Given the description of an element on the screen output the (x, y) to click on. 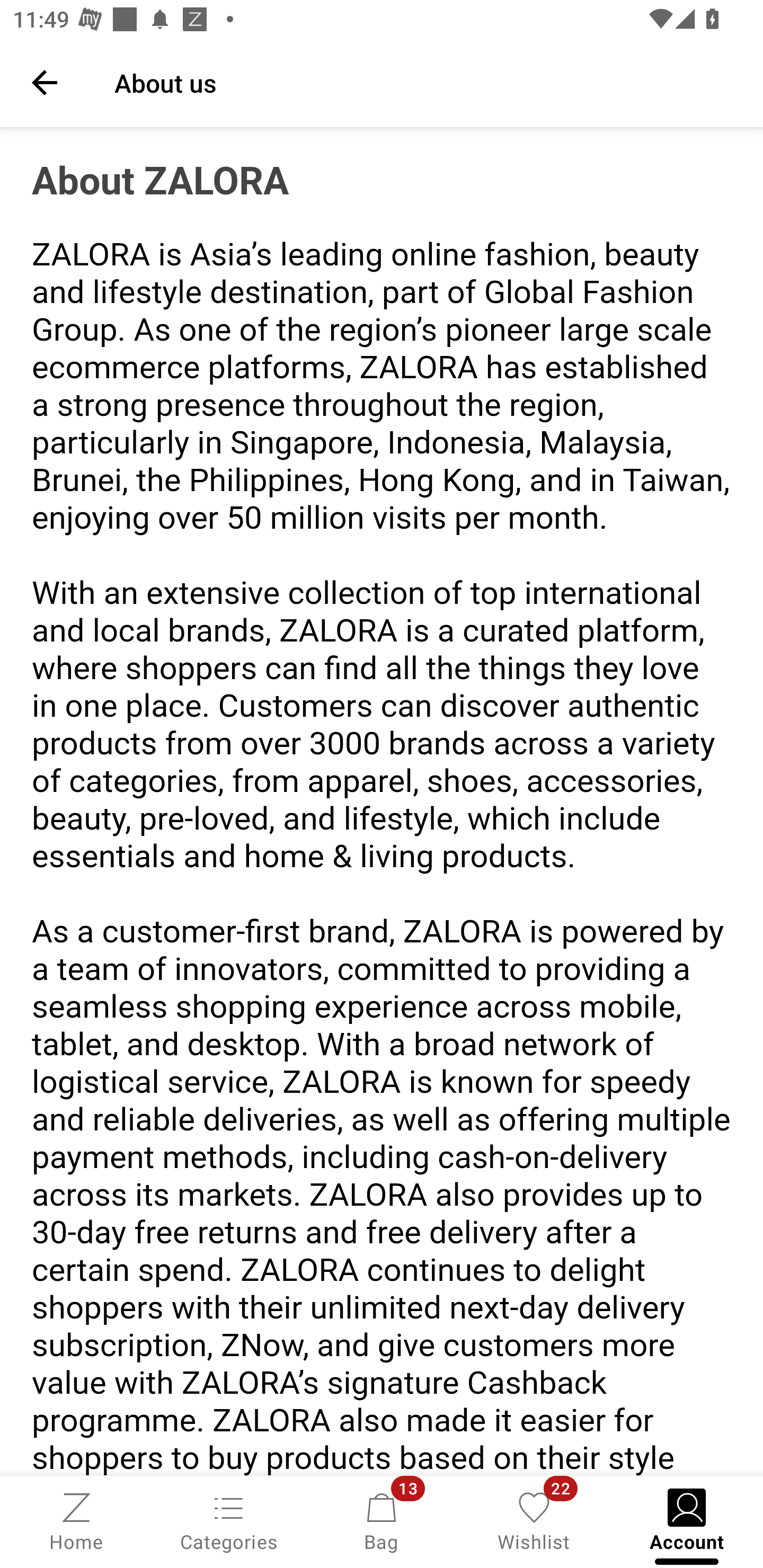
Navigate up (44, 82)
About us (426, 82)
Home (76, 1519)
Categories (228, 1519)
Bag, 13 new notifications Bag (381, 1519)
Wishlist, 22 new notifications Wishlist (533, 1519)
